Given the description of an element on the screen output the (x, y) to click on. 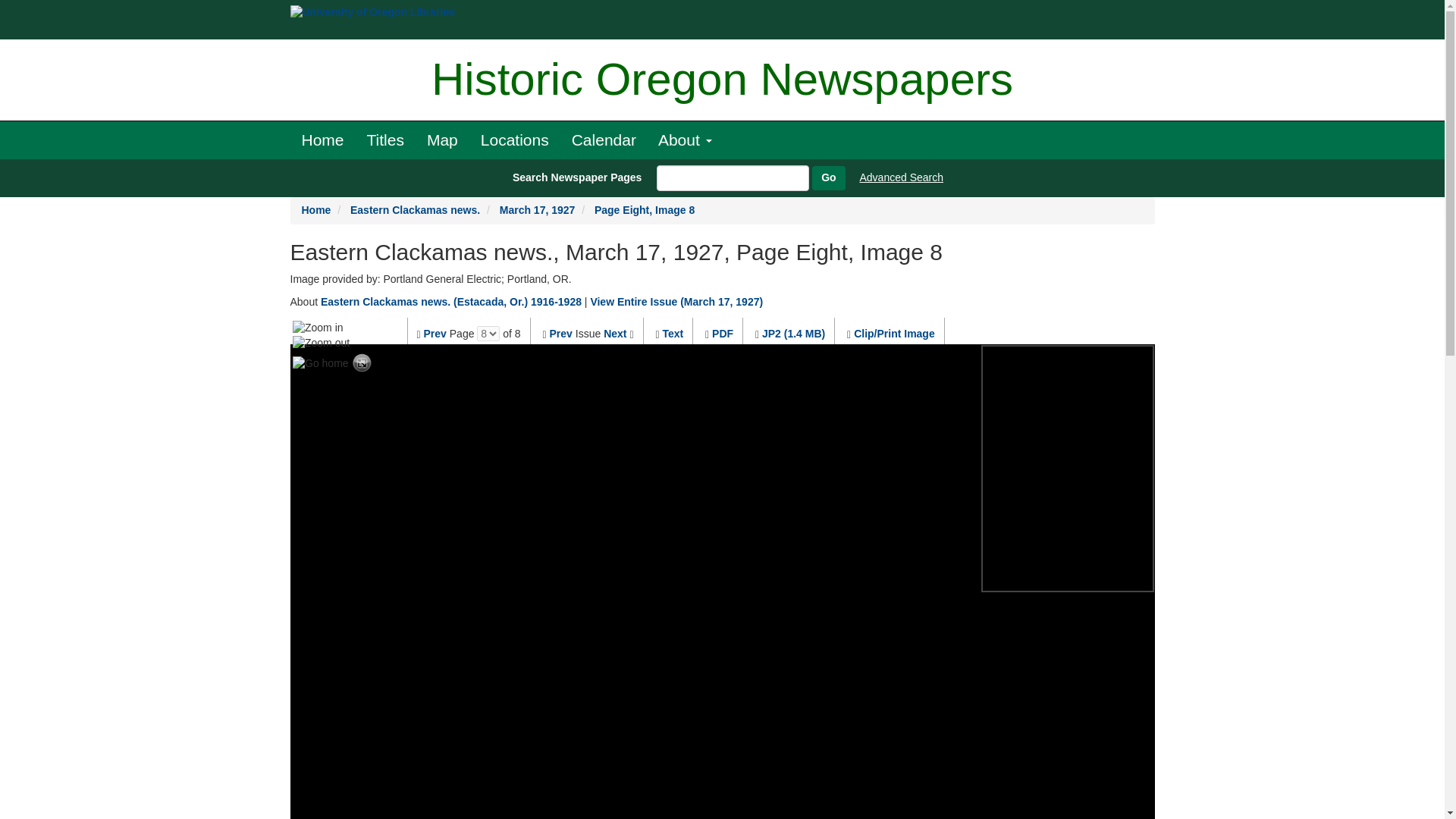
March 17, 1927 (537, 209)
Locations (514, 139)
Map (441, 139)
About (684, 140)
Calendar (603, 139)
Go home (320, 363)
Text (672, 333)
Advanced Search (901, 177)
Toggle full page (362, 363)
Page Eight, Image 8 (644, 209)
Zoom in (317, 327)
Historic Oregon Newspapers (721, 79)
Eastern Clackamas news. (415, 209)
Home (322, 139)
Home (316, 209)
